Given the description of an element on the screen output the (x, y) to click on. 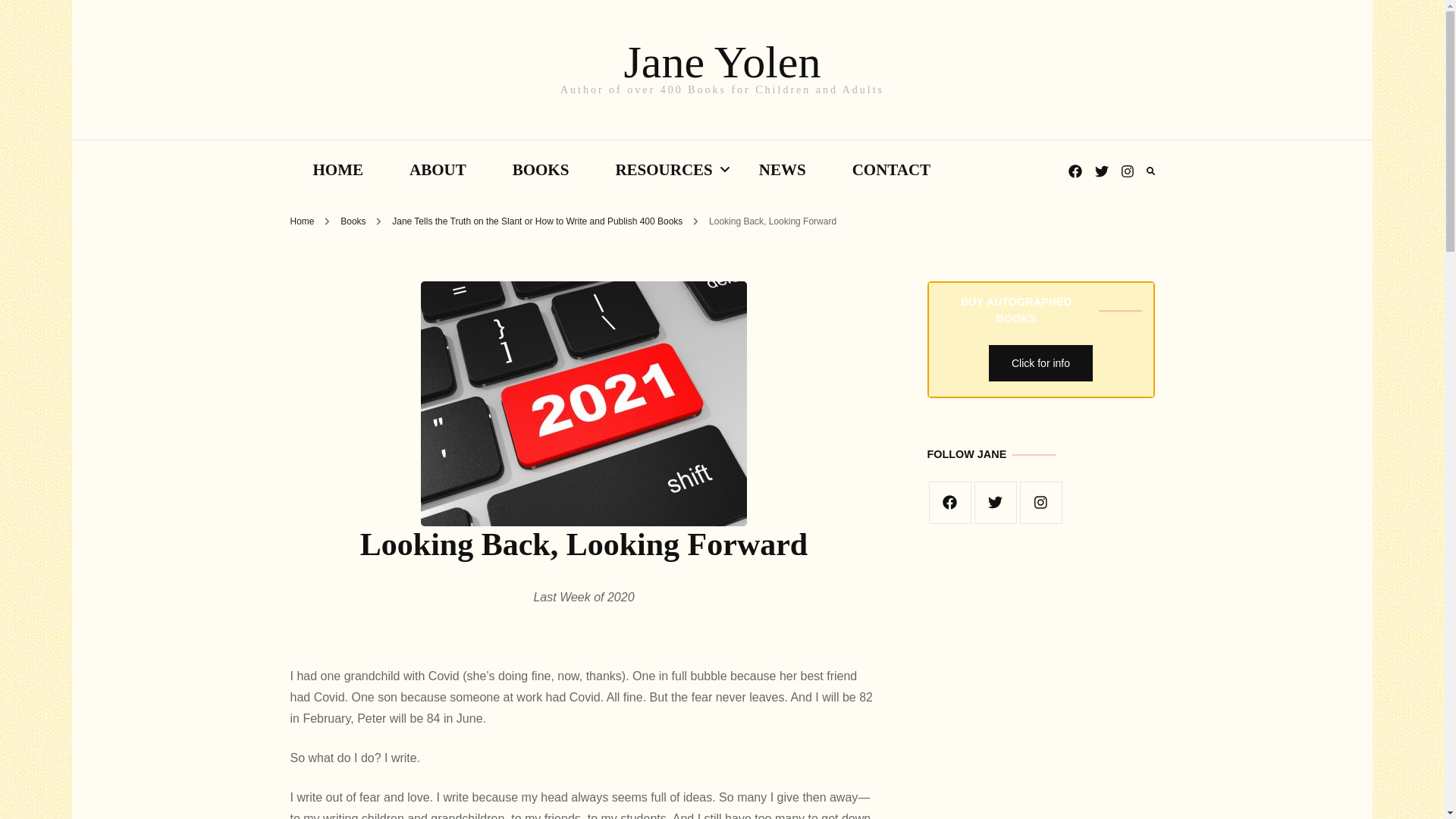
HOME (337, 169)
RESOURCES (663, 169)
Home (301, 221)
Jane Yolen (722, 61)
BOOKS (540, 169)
CONTACT (891, 169)
Books (354, 221)
On the Slant (675, 235)
NEWS (782, 169)
Click for info (1040, 362)
Looking Back, Looking Forward (772, 221)
ABOUT (438, 169)
